Given the description of an element on the screen output the (x, y) to click on. 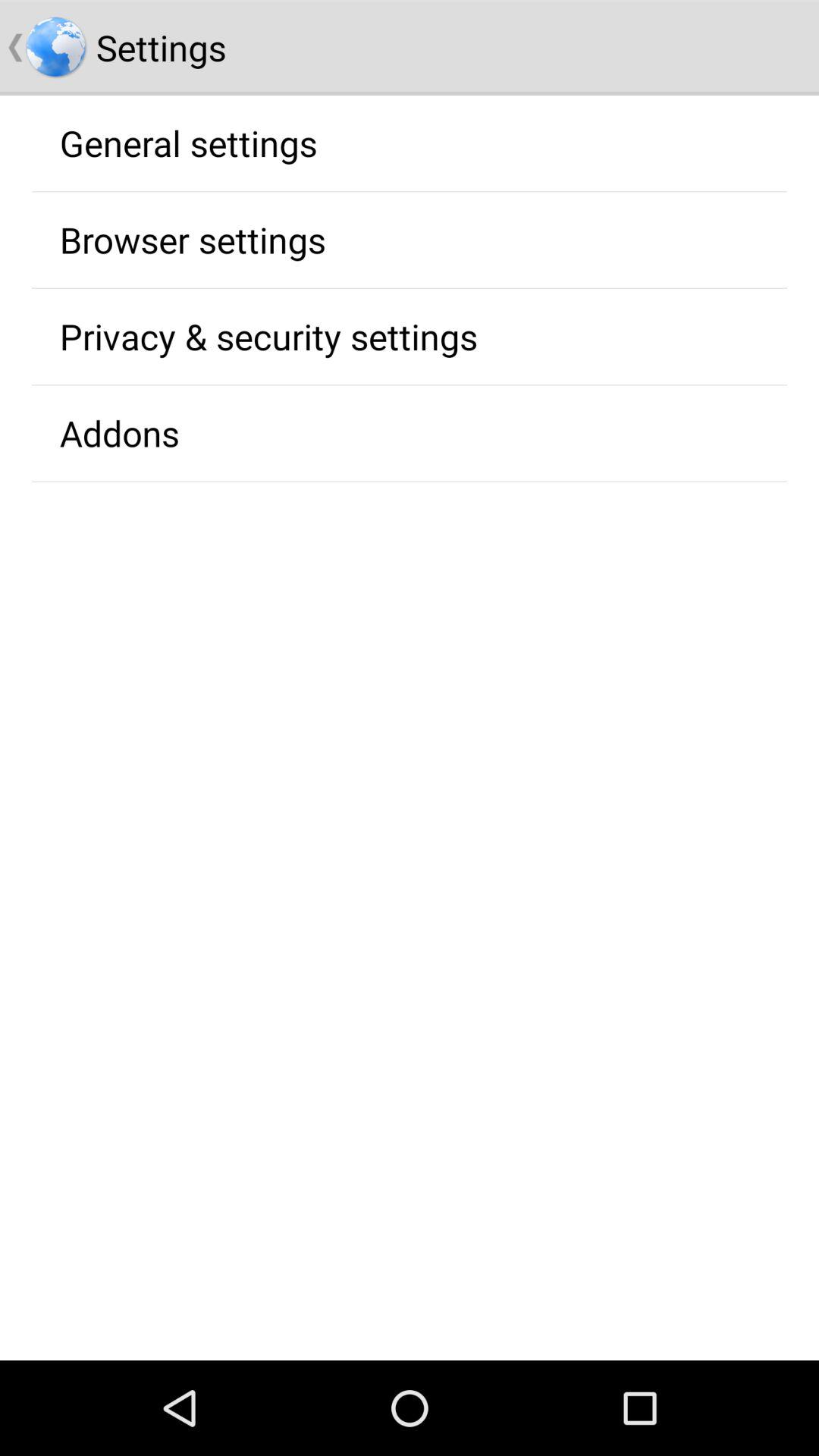
turn off icon below privacy & security settings item (119, 432)
